Given the description of an element on the screen output the (x, y) to click on. 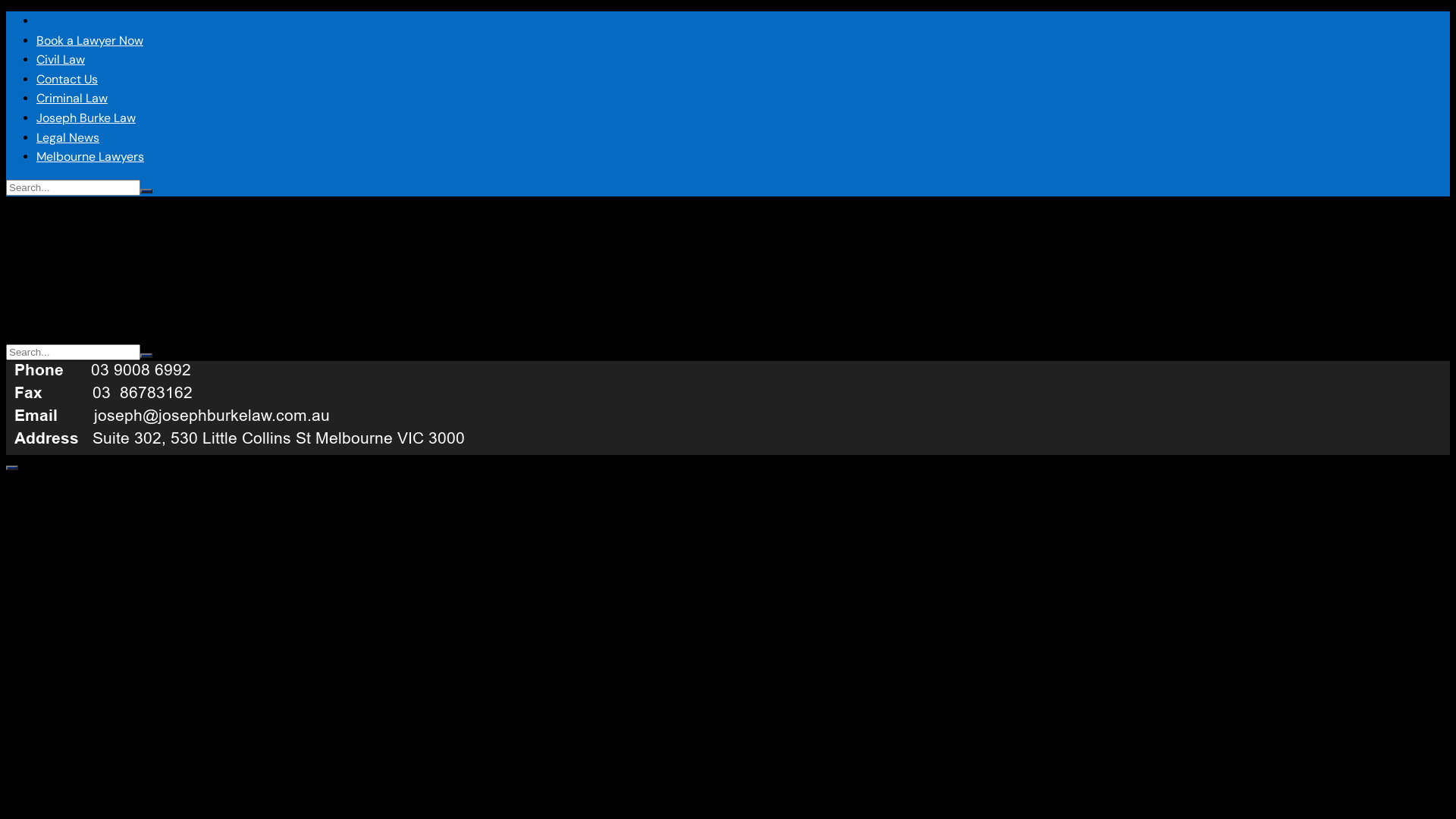
Book a Lawyer Now Element type: text (89, 40)
Joseph Burke law Element type: text (52, 20)
Legal News Element type: text (67, 137)
Skip to content Element type: text (5, 10)
Criminal Law Element type: text (71, 98)
Civil Law Element type: text (60, 59)
one Element type: hover (252, 404)
Joseph Burke Law Element type: text (85, 117)
Contact Us Element type: text (66, 79)
Melbourne Lawyers Element type: text (90, 156)
